Given the description of an element on the screen output the (x, y) to click on. 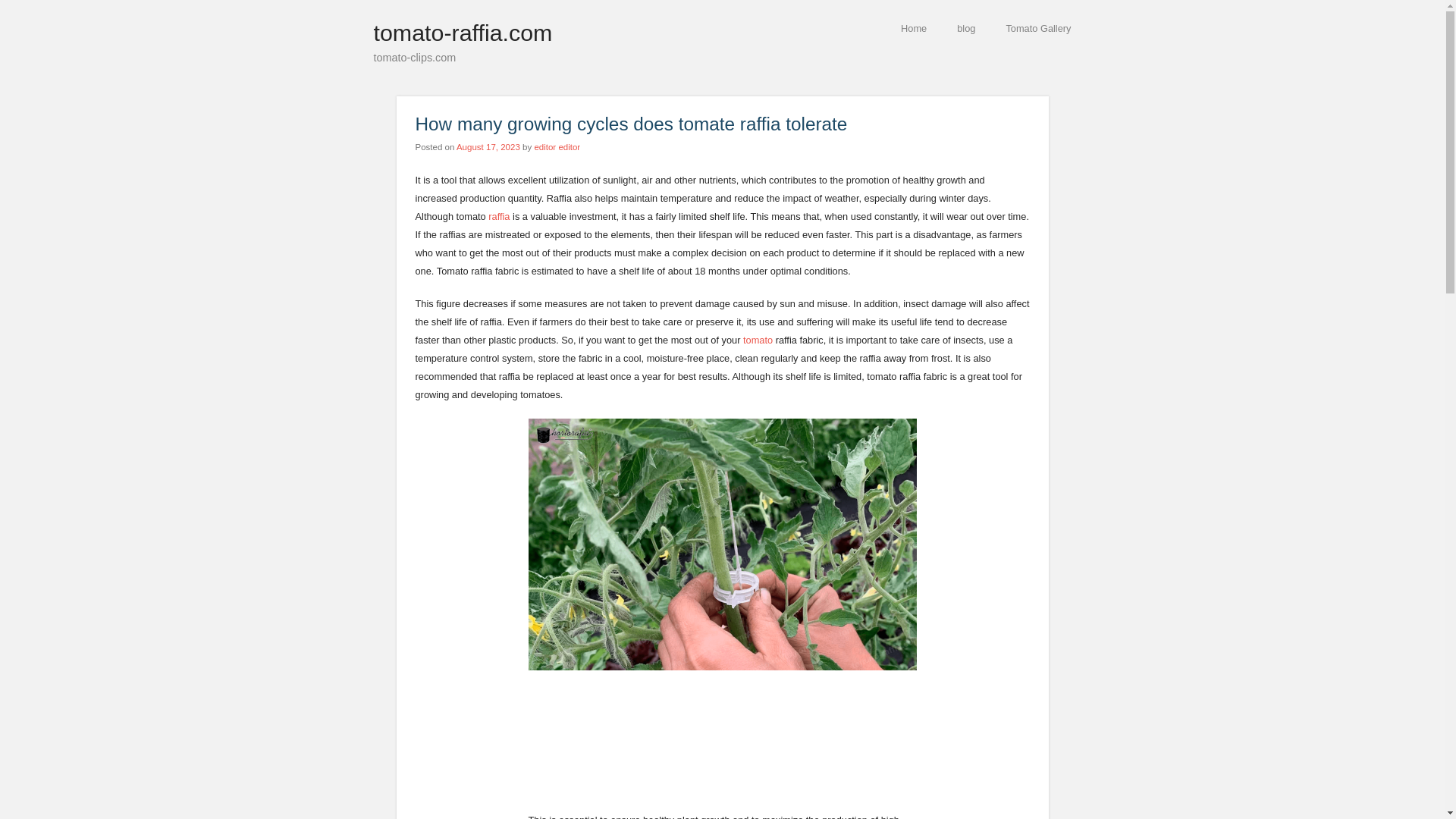
Home (913, 27)
raffia (498, 215)
tomato-raffia.com (461, 32)
4:10 pm (488, 146)
View all posts by editor editor (556, 146)
tomato (757, 339)
tomato-raffia.com (461, 32)
editor editor (556, 146)
Skip to content (769, 27)
Tomato Gallery (1038, 27)
